Given the description of an element on the screen output the (x, y) to click on. 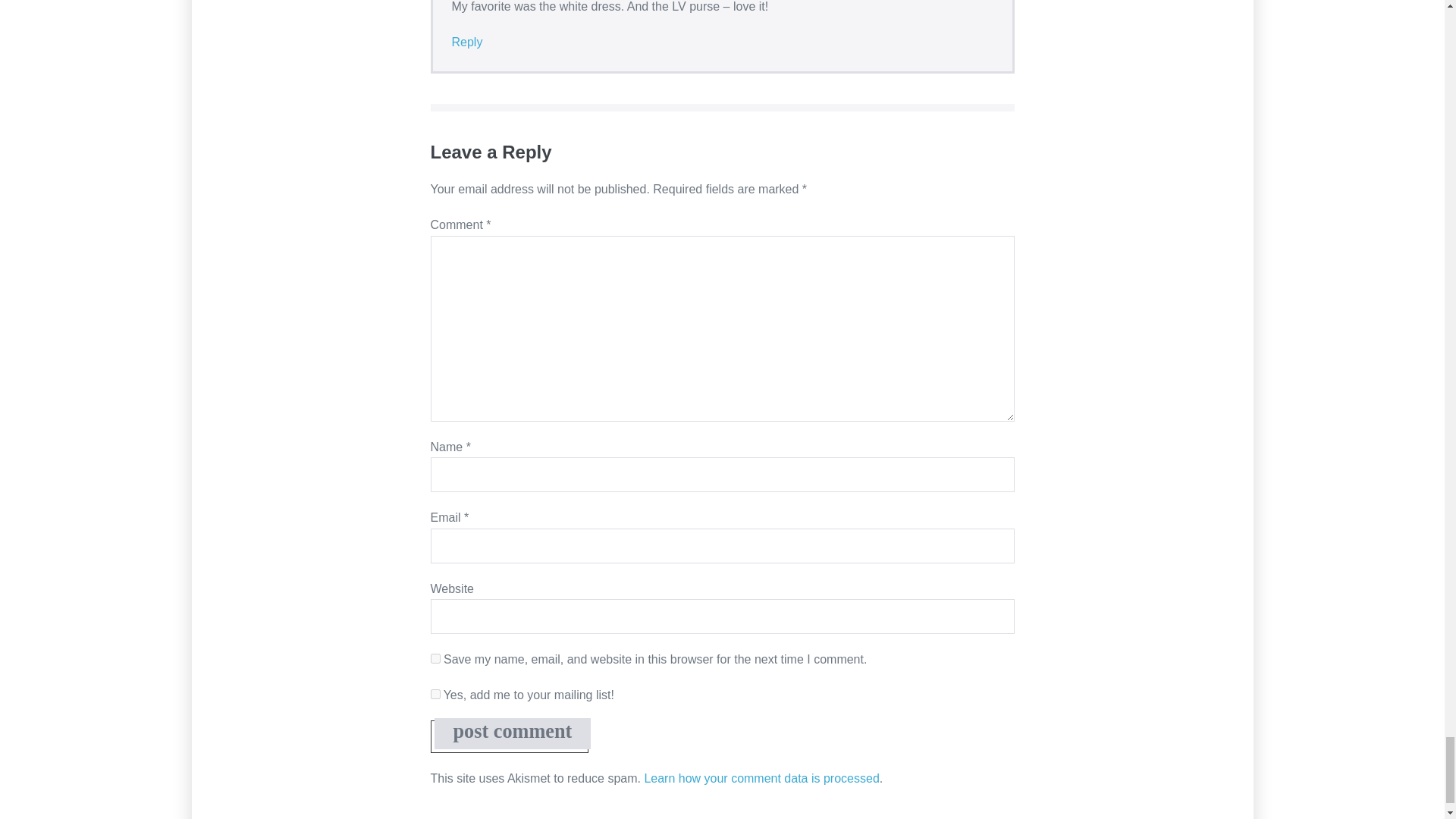
yes (435, 658)
Post Comment (512, 733)
1 (435, 694)
